Given the description of an element on the screen output the (x, y) to click on. 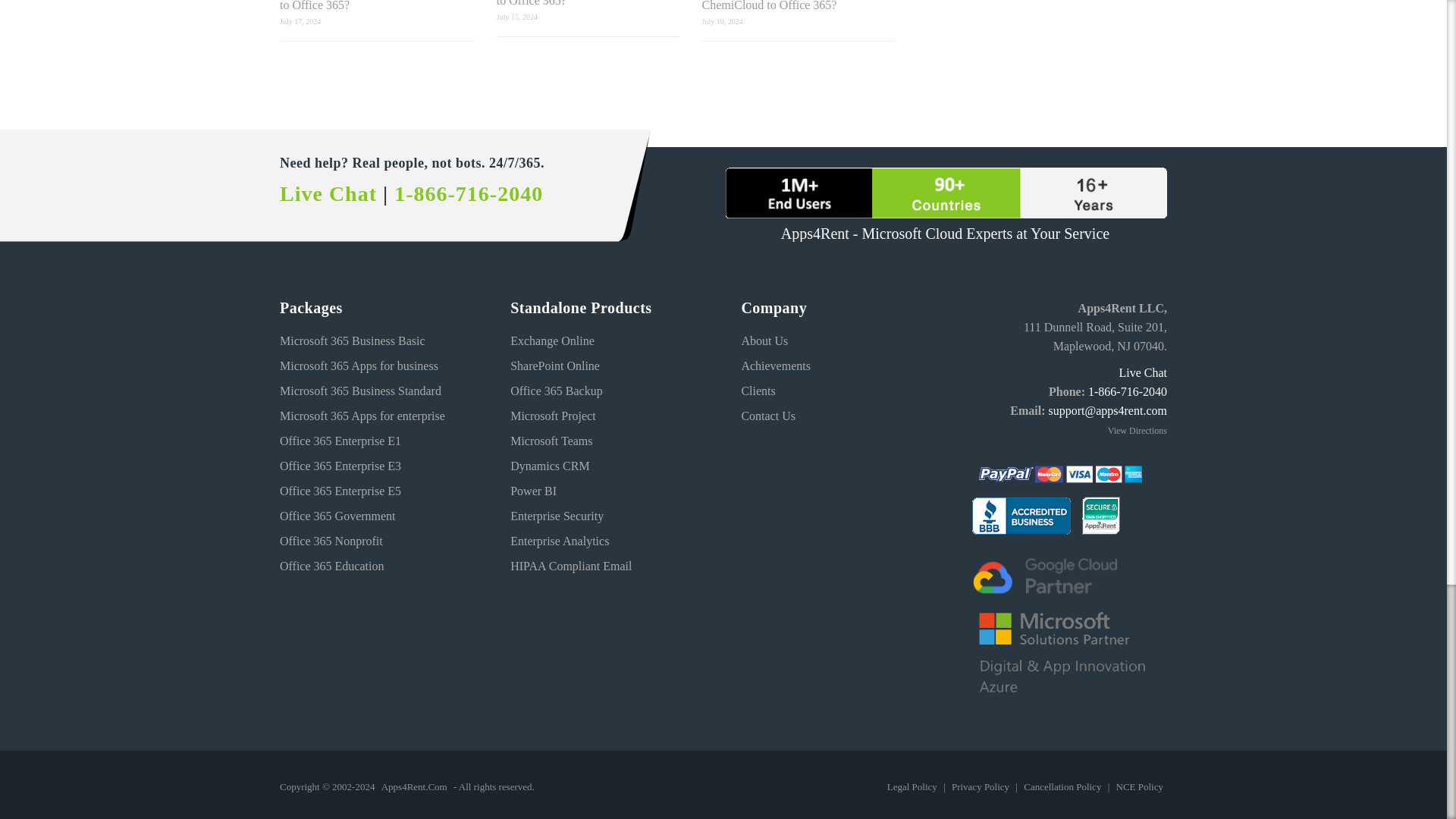
Permalink to How to Migrate Emails from Exim to Office 365? (587, 3)
